Given the description of an element on the screen output the (x, y) to click on. 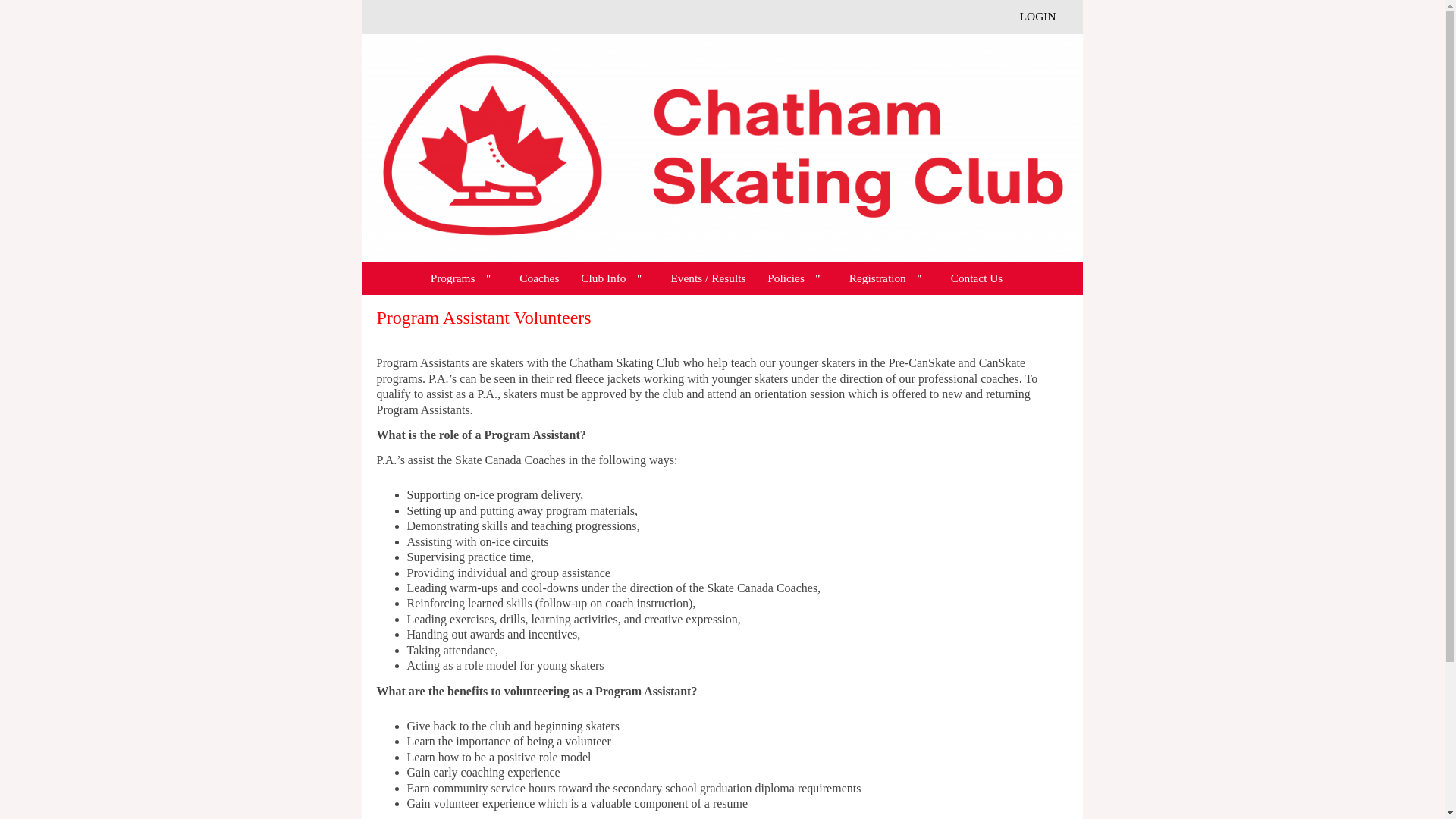
Contact Us (977, 278)
Policies (796, 278)
Policies (796, 278)
Login (1037, 17)
Programs (464, 278)
Coaches (538, 278)
Club Info (614, 278)
Coaches (538, 278)
Club Info (614, 278)
Registration (889, 278)
LOGIN (1037, 17)
Programs (464, 278)
